Given the description of an element on the screen output the (x, y) to click on. 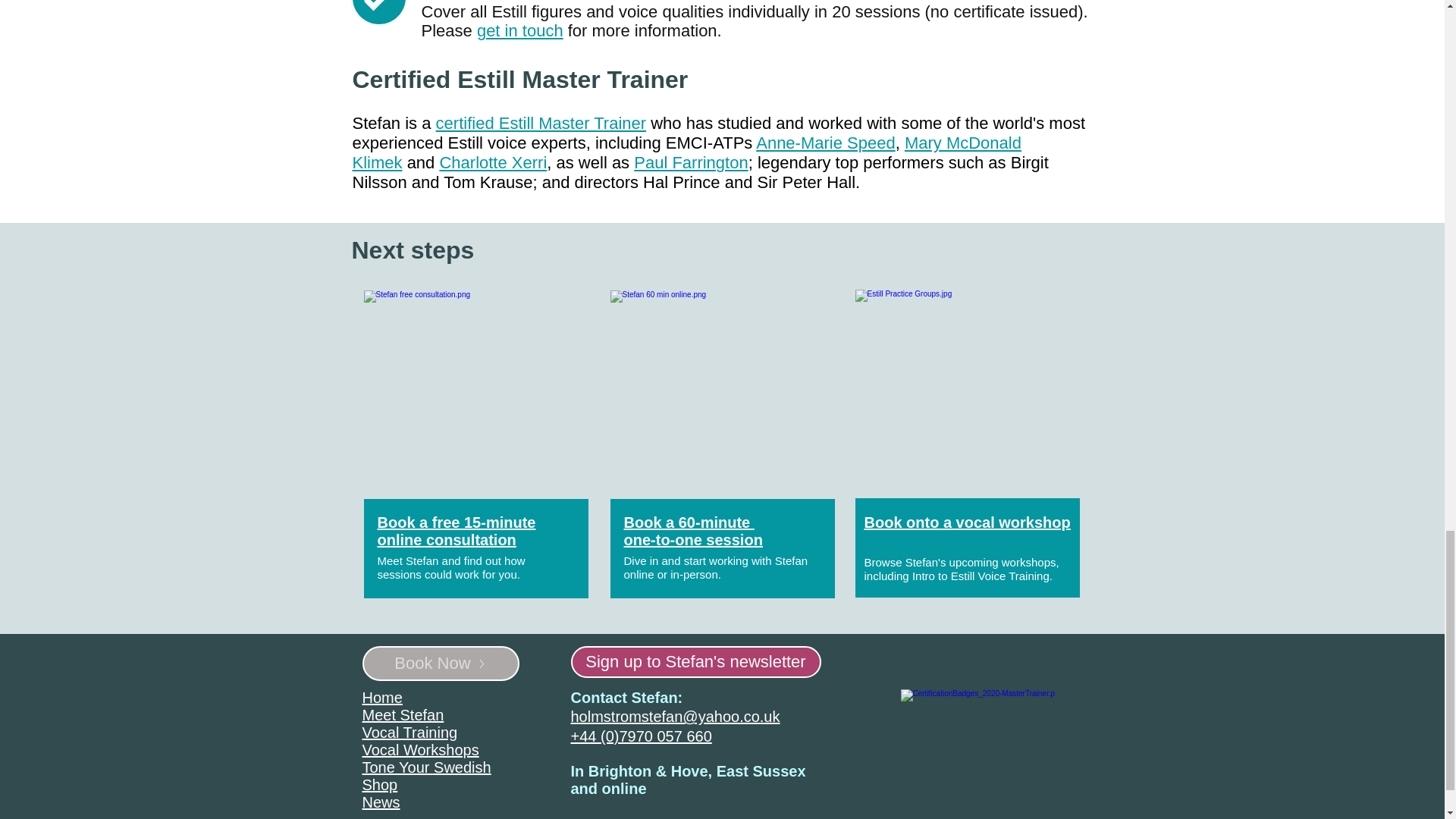
Book Now (440, 663)
Charlotte Xerri (493, 162)
Book a free 15-minute online consultation (456, 530)
get in touch (520, 30)
Mary McDonald Klimek (686, 152)
Paul Farrington (690, 162)
certified Estill Master Trainer (540, 122)
Sign up to Stefan's newsletter (695, 662)
Book onto a vocal workshop (967, 522)
